Given the description of an element on the screen output the (x, y) to click on. 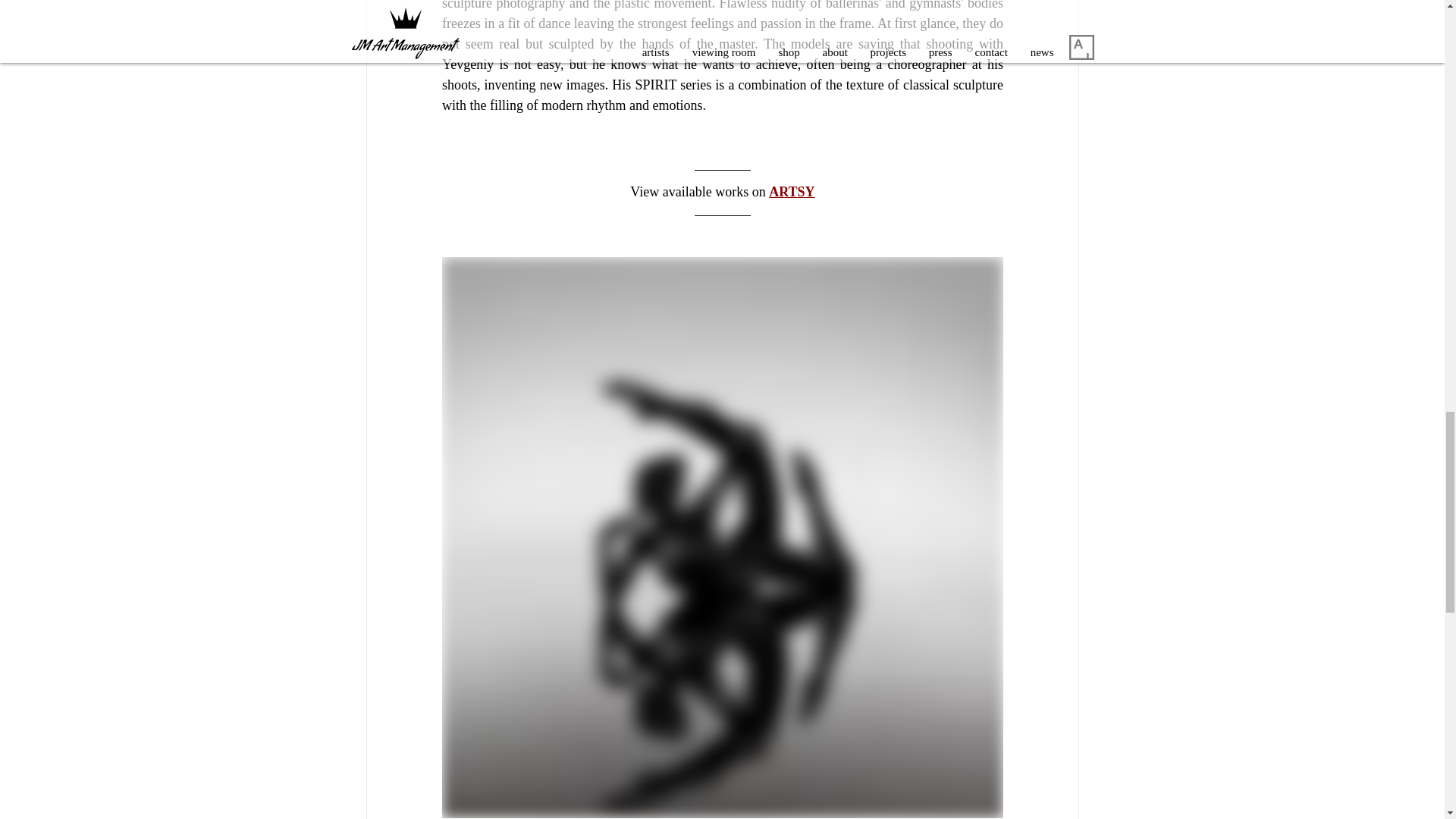
ARTSY (790, 191)
